Given the description of an element on the screen output the (x, y) to click on. 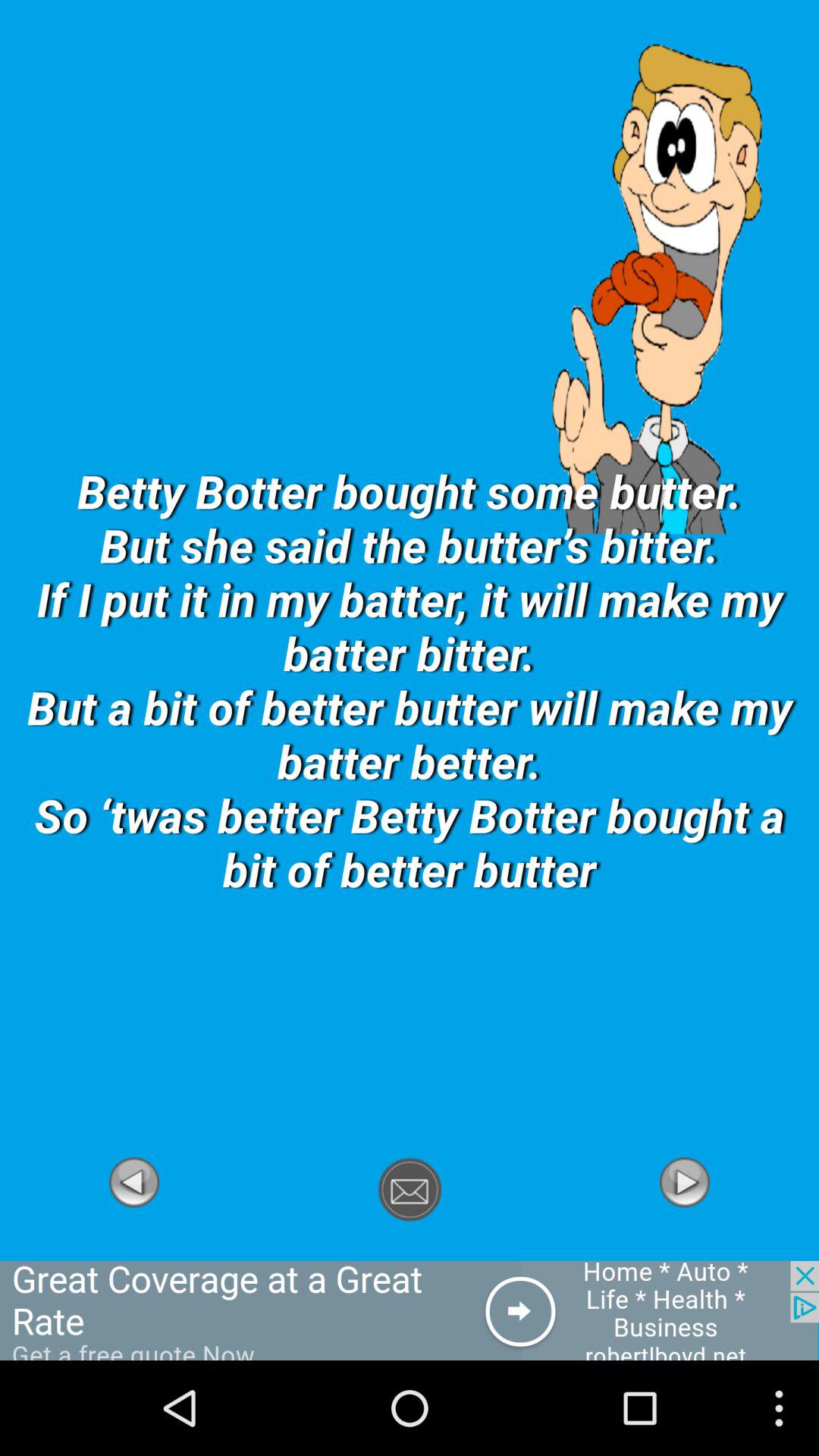
play option (134, 1251)
